Given the description of an element on the screen output the (x, y) to click on. 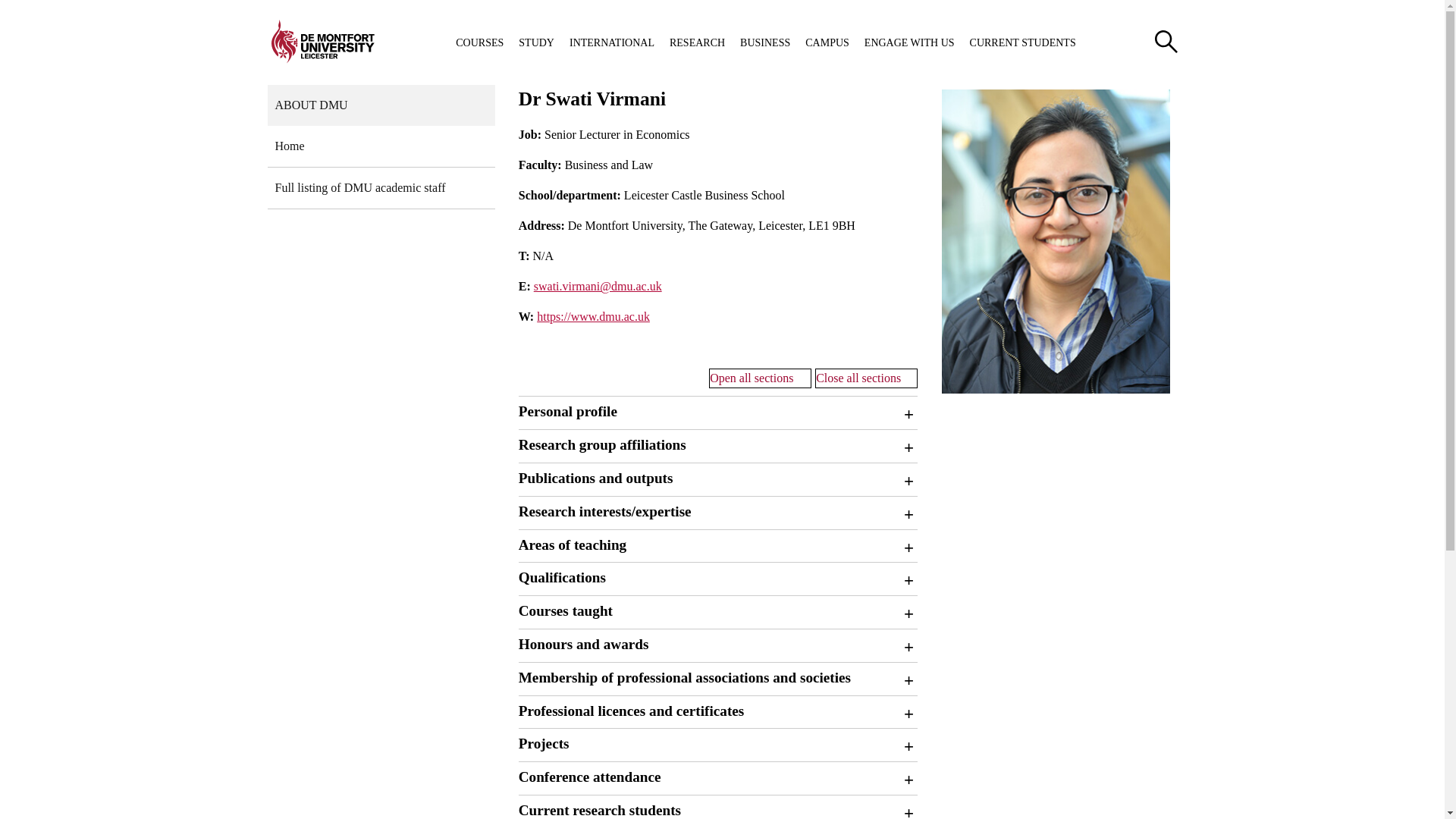
COURSES (479, 42)
STUDY (536, 42)
search-results (1165, 41)
DMU Logo (322, 41)
Search (1165, 41)
Full listing of DMU academic staff (380, 188)
Go to: About DMU (380, 105)
Home (380, 146)
INTERNATIONAL (611, 42)
